Given the description of an element on the screen output the (x, y) to click on. 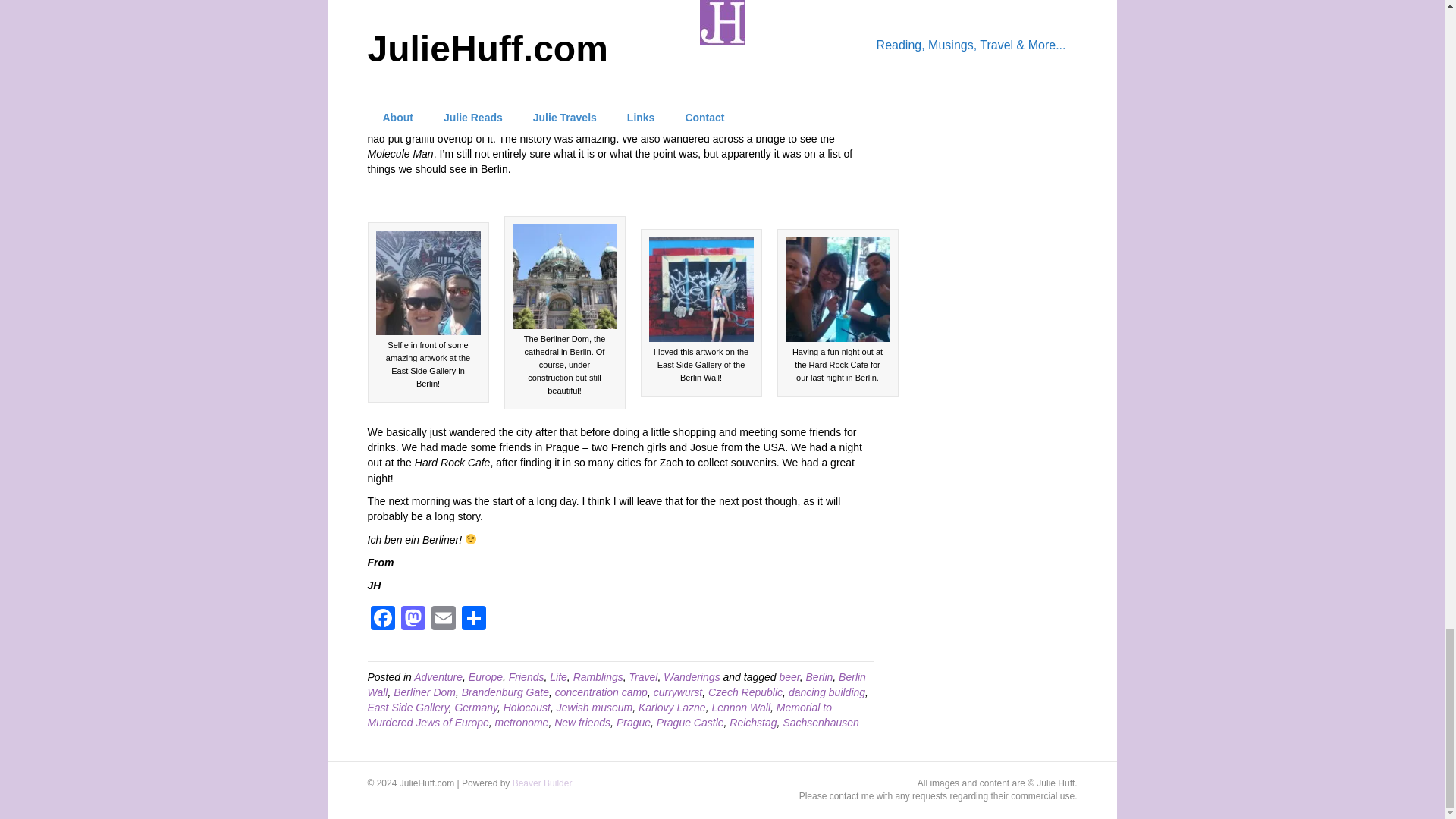
WordPress Page Builder Plugin (542, 783)
Mastodon (412, 619)
Friends (526, 676)
Facebook (381, 619)
Email (443, 619)
Mastodon (412, 619)
Email (443, 619)
Share (472, 619)
Adventure (438, 676)
Europe (485, 676)
Life (558, 676)
Facebook (381, 619)
